Given the description of an element on the screen output the (x, y) to click on. 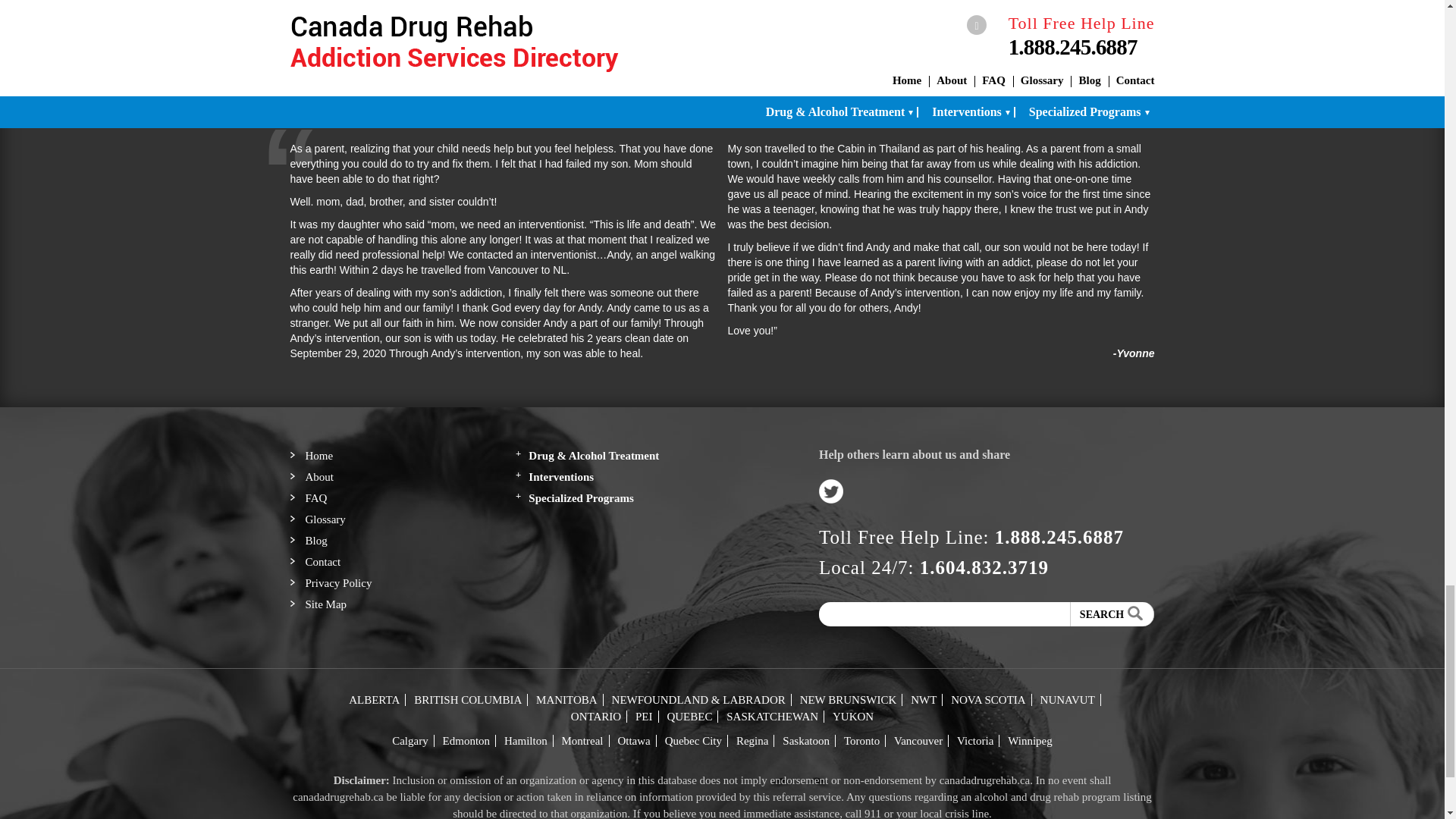
Search (1112, 613)
Search (1112, 613)
